Given the description of an element on the screen output the (x, y) to click on. 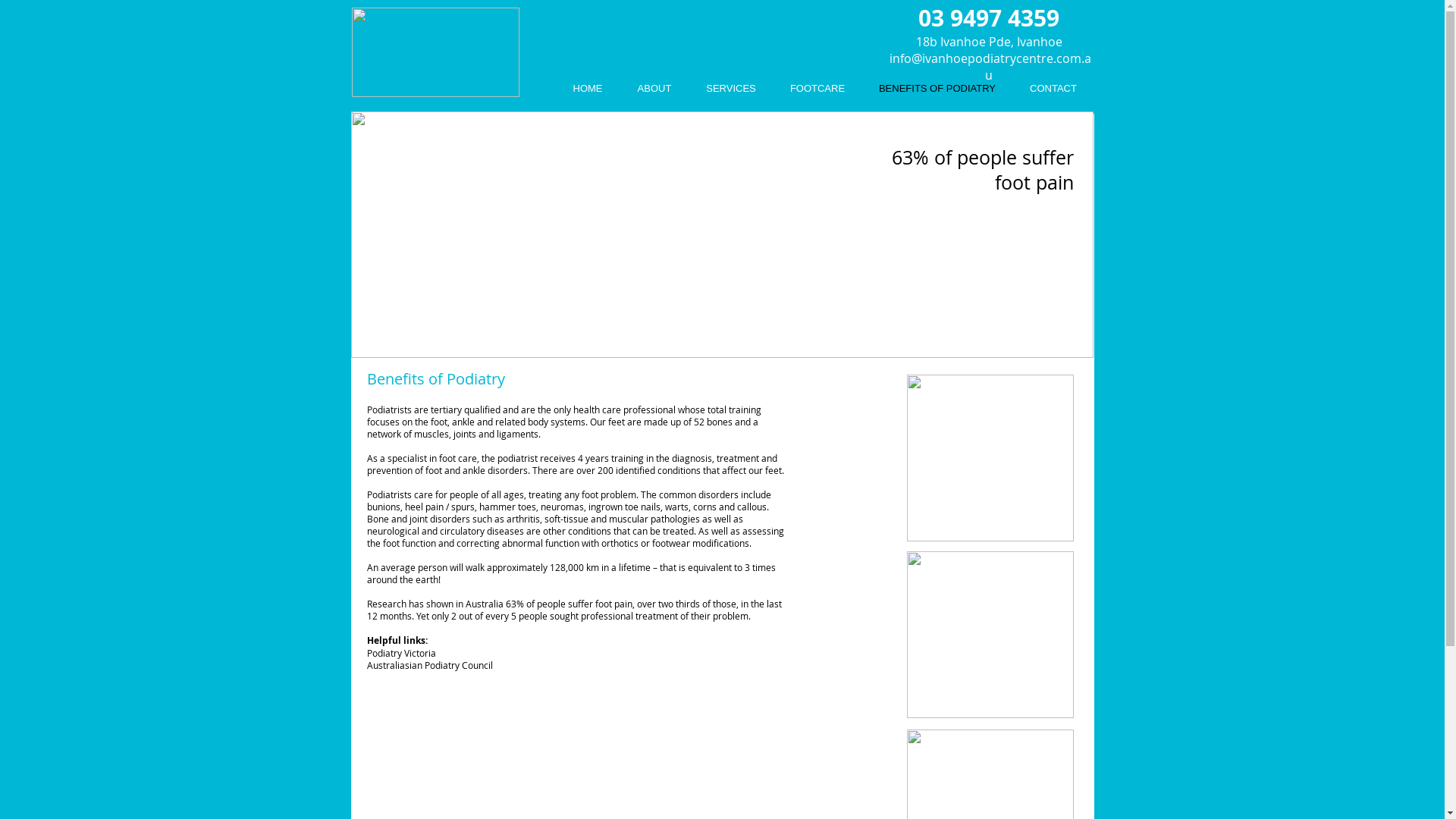
info@ivanhoepodiatrycentre.com.au Element type: text (990, 66)
Podiatry Victoria Element type: text (401, 652)
Ivanhoe_Podiatry_logo.jpg Element type: hover (435, 52)
Ivanhoe_Podiatry_foot3.jpg Element type: hover (989, 634)
SERVICES Element type: text (730, 88)
HOME Element type: text (587, 88)
BENEFITS OF PODIATRY Element type: text (936, 88)
ABOUT Element type: text (654, 88)
CONTACT Element type: text (1053, 88)
Australiasian Podiatry Council Element type: text (429, 664)
FOOTCARE Element type: text (817, 88)
